Given the description of an element on the screen output the (x, y) to click on. 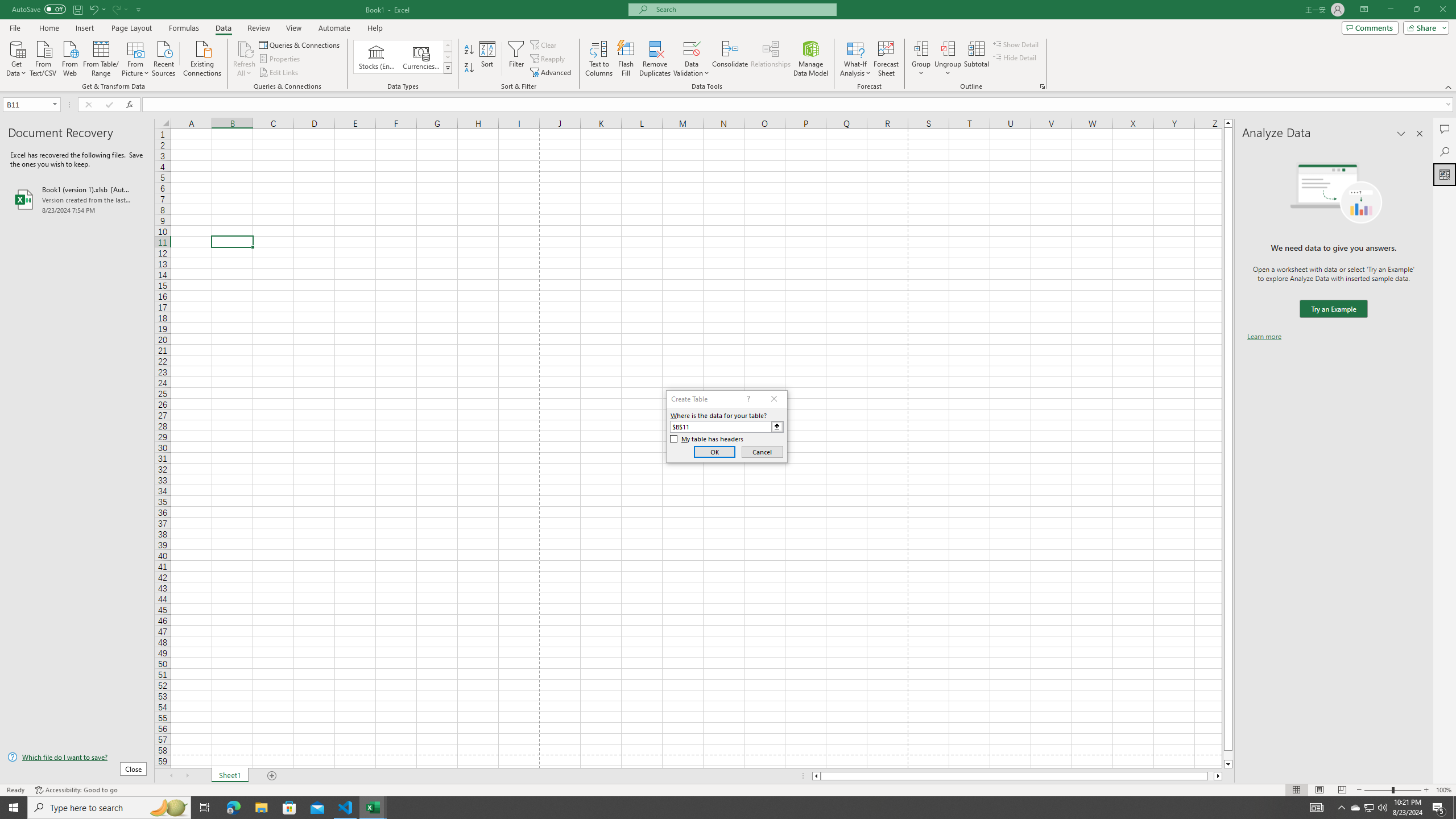
From Picture (135, 57)
Sort Z to A (469, 67)
